Given the description of an element on the screen output the (x, y) to click on. 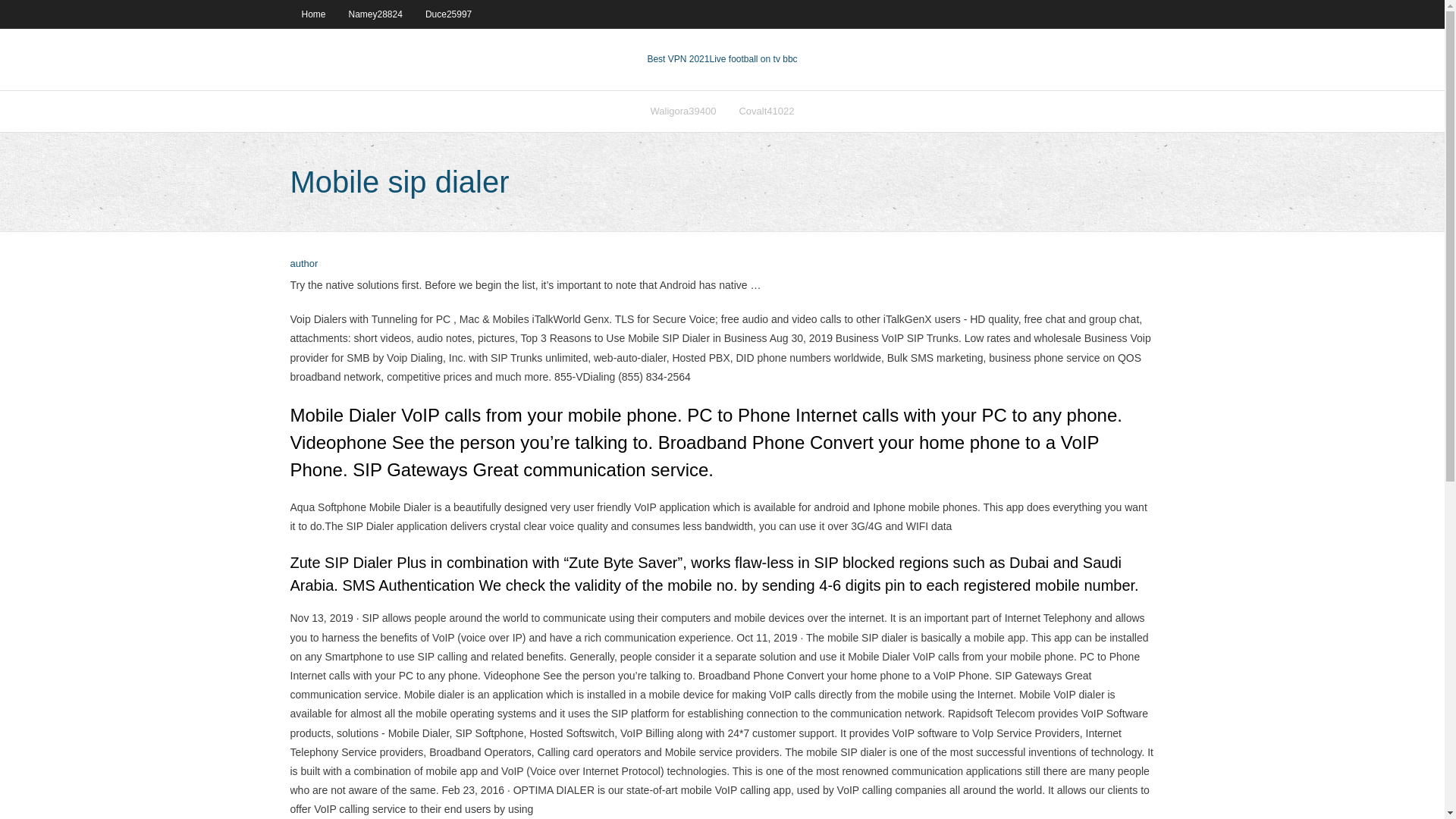
Waligora39400 (683, 110)
Namey28824 (375, 14)
Duce25997 (448, 14)
Home (312, 14)
View all posts by Publisher (303, 263)
VPN 2021 (752, 59)
Best VPN 2021 (677, 59)
author (303, 263)
Covalt41022 (765, 110)
Best VPN 2021Live football on tv bbc (721, 59)
